Given the description of an element on the screen output the (x, y) to click on. 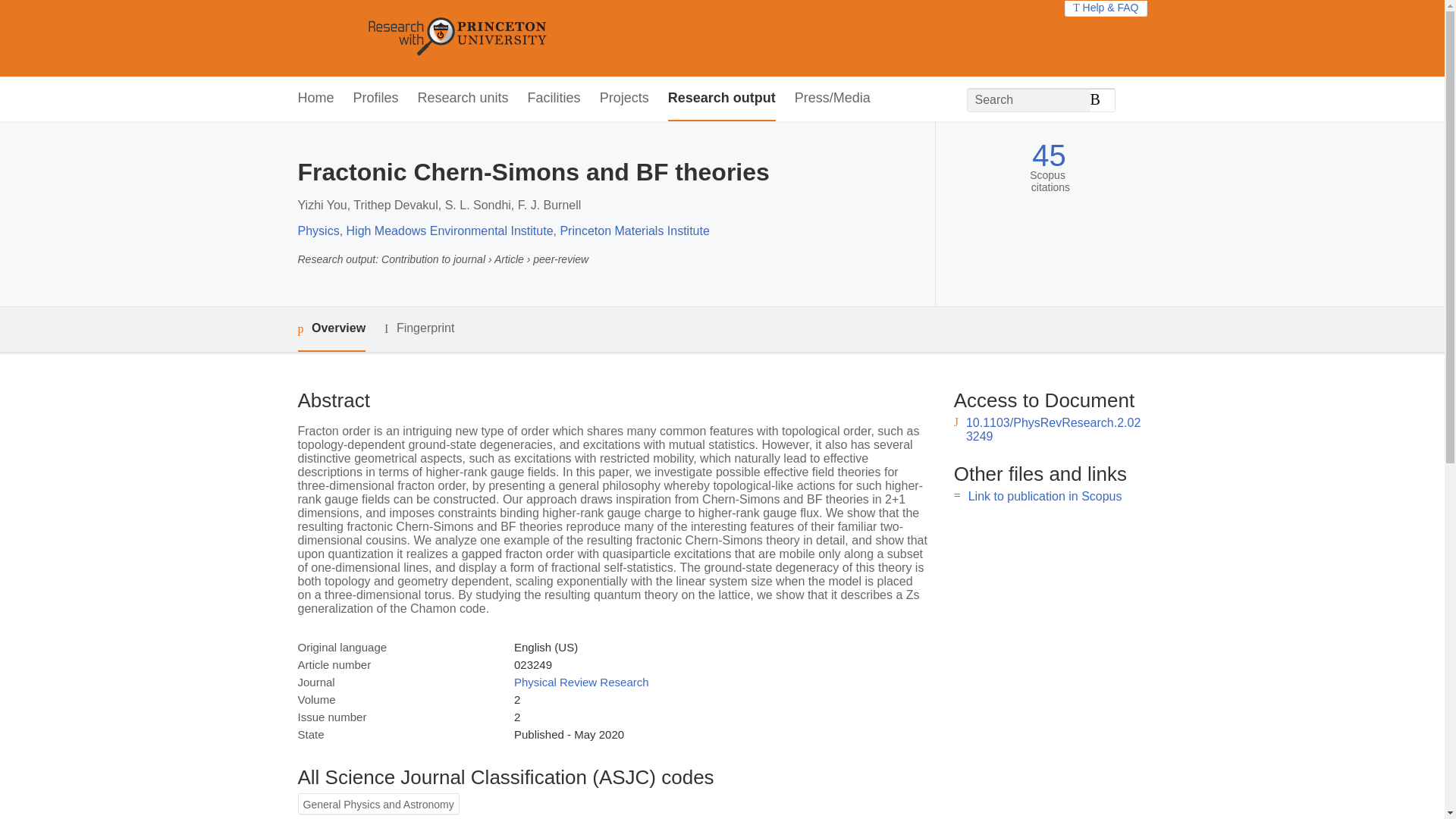
Fingerprint (419, 328)
Princeton Materials Institute (634, 230)
Physics (318, 230)
Link to publication in Scopus (1045, 495)
Overview (331, 329)
45 (1048, 155)
Facilities (553, 98)
Projects (624, 98)
Princeton University Home (567, 38)
High Meadows Environmental Institute (449, 230)
Physical Review Research (581, 681)
Profiles (375, 98)
Research output (722, 98)
Research units (462, 98)
